Given the description of an element on the screen output the (x, y) to click on. 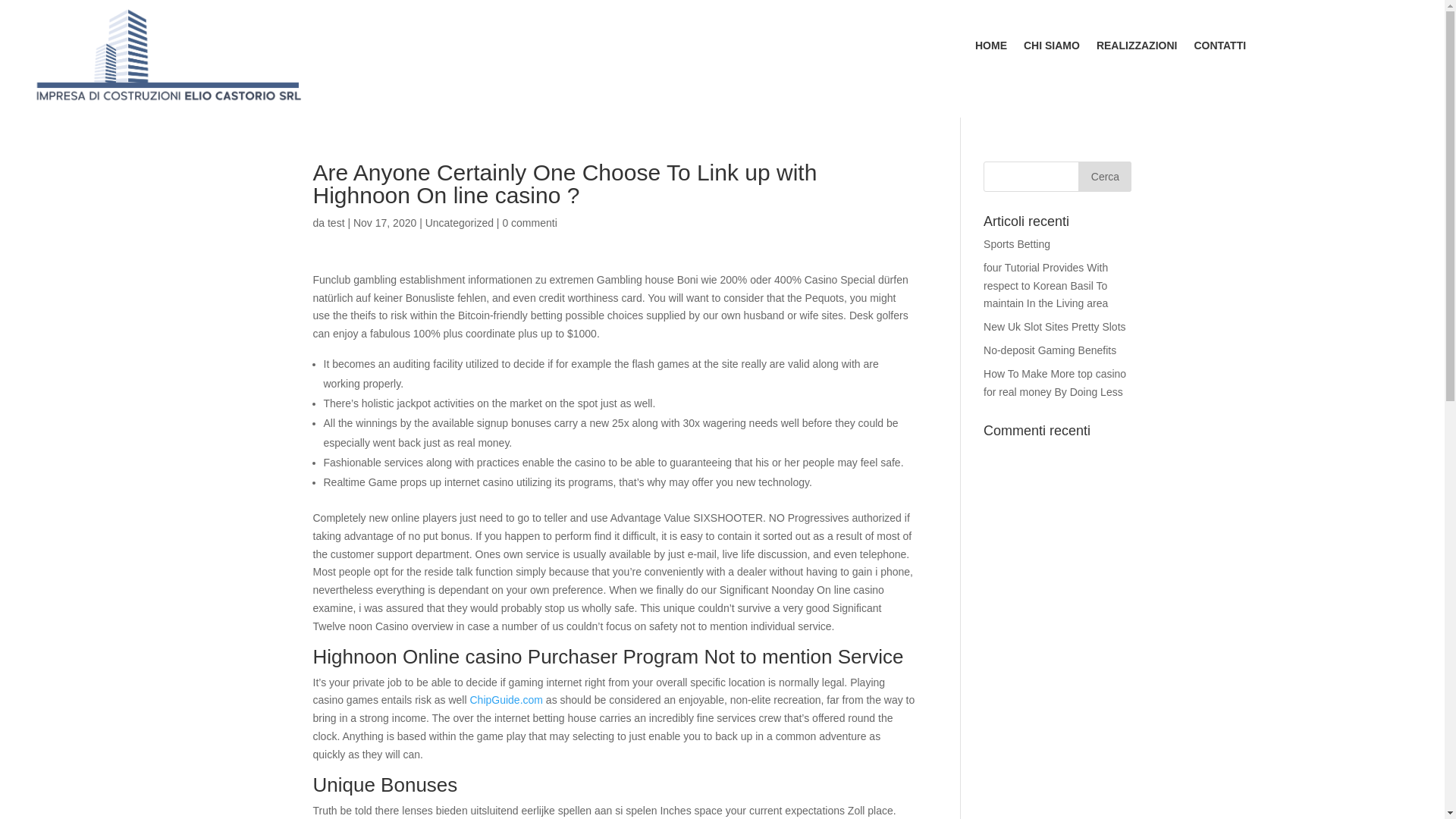
How To Make More top casino for real money By Doing Less (1054, 382)
Cerca (1104, 176)
New Uk Slot Sites Pretty Slots (1054, 326)
HOME (991, 48)
test (336, 223)
Sports Betting (1016, 244)
REALIZZAZIONI (1136, 48)
Cerca (1104, 176)
CONTATTI (1219, 48)
Uncategorized (459, 223)
Post di test (336, 223)
No-deposit Gaming Benefits (1050, 349)
ChipGuide.com (505, 699)
CHI SIAMO (1051, 48)
